Given the description of an element on the screen output the (x, y) to click on. 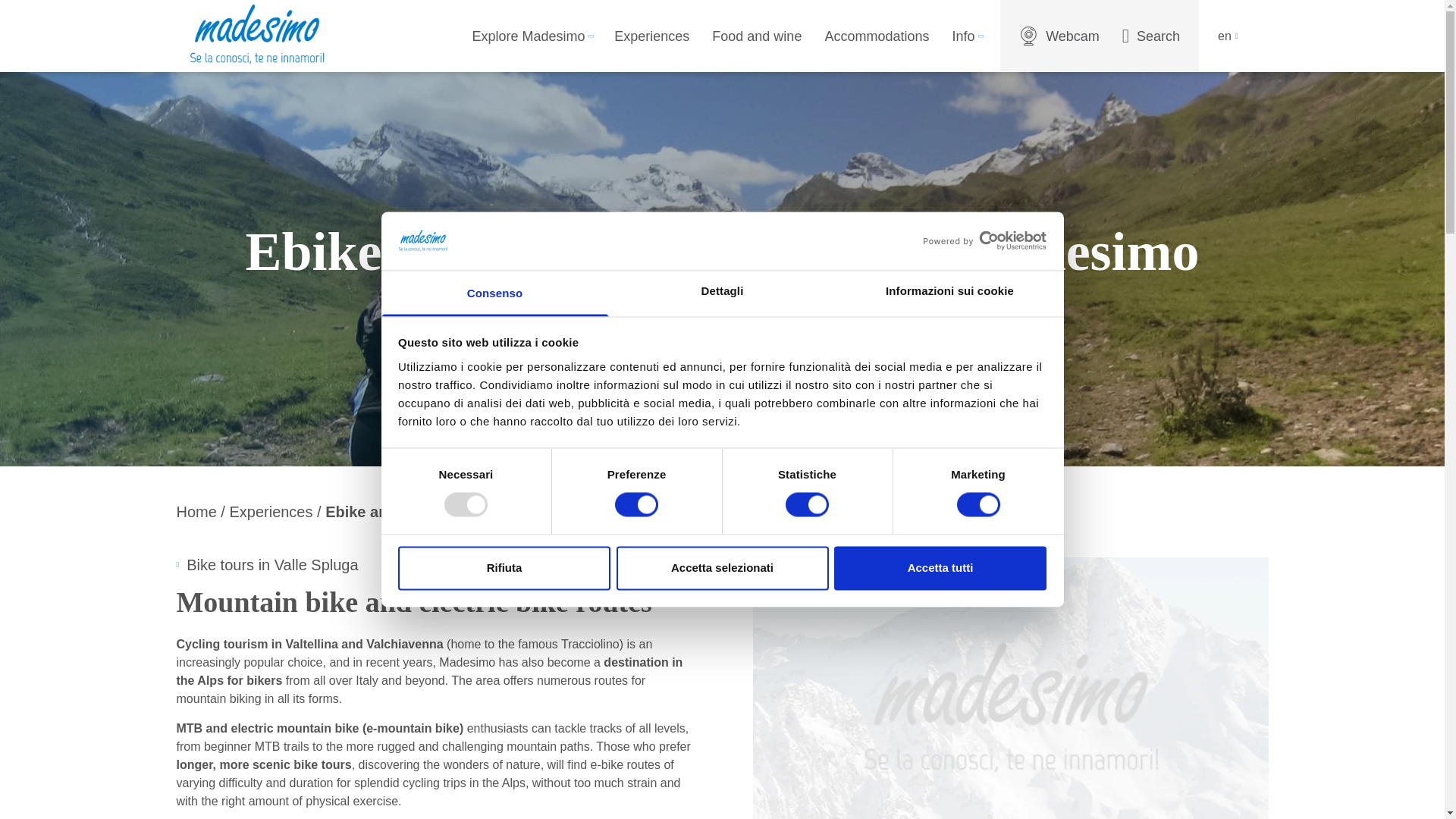
Consenso (494, 293)
Accetta selezionati (721, 567)
Dettagli (721, 293)
Informazioni sui cookie (948, 293)
Rifiuta (503, 567)
Accetta tutti (940, 567)
Explore Madesimo (532, 36)
